Given the description of an element on the screen output the (x, y) to click on. 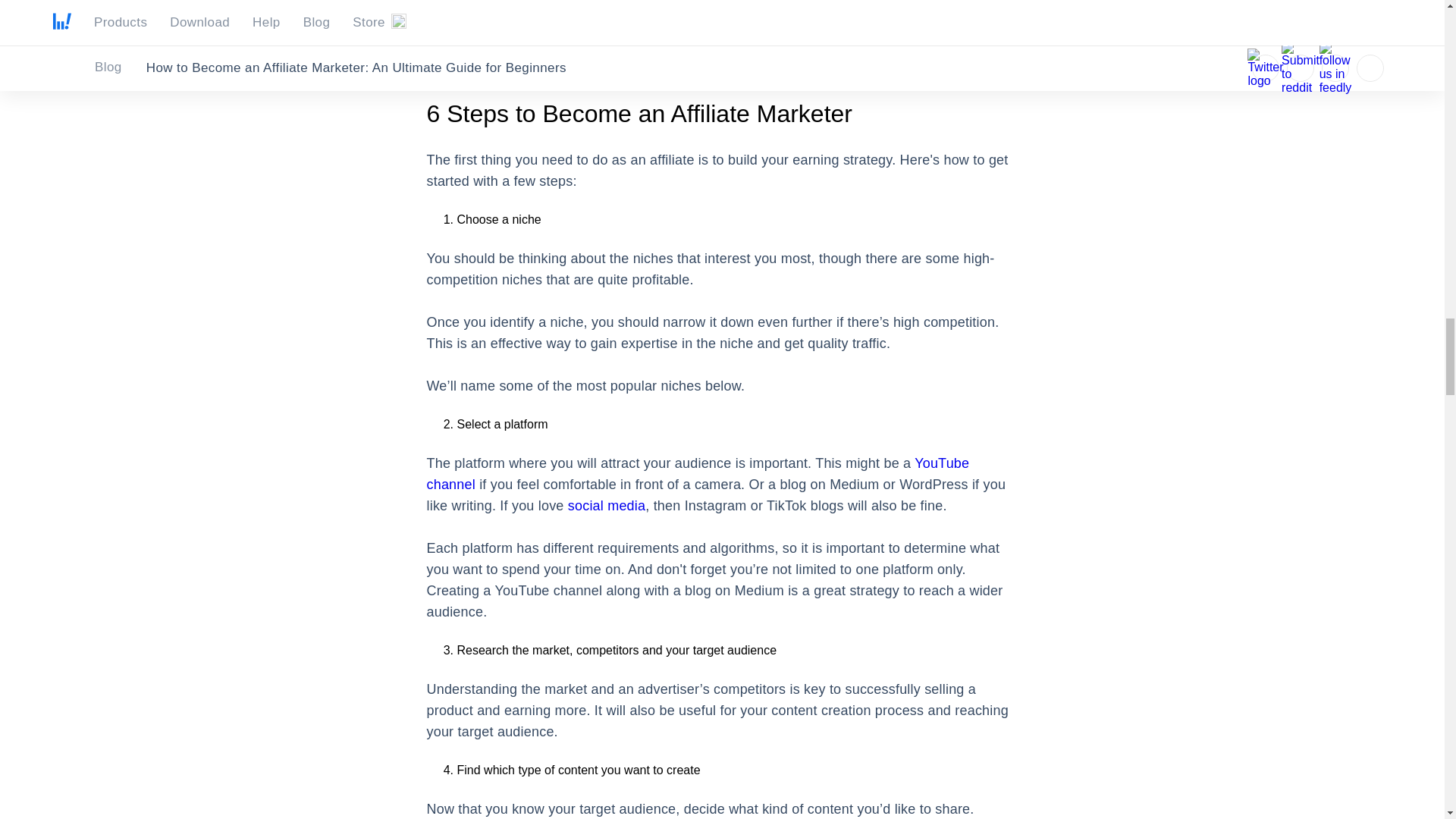
social media (606, 505)
YouTube channel (697, 473)
